Given the description of an element on the screen output the (x, y) to click on. 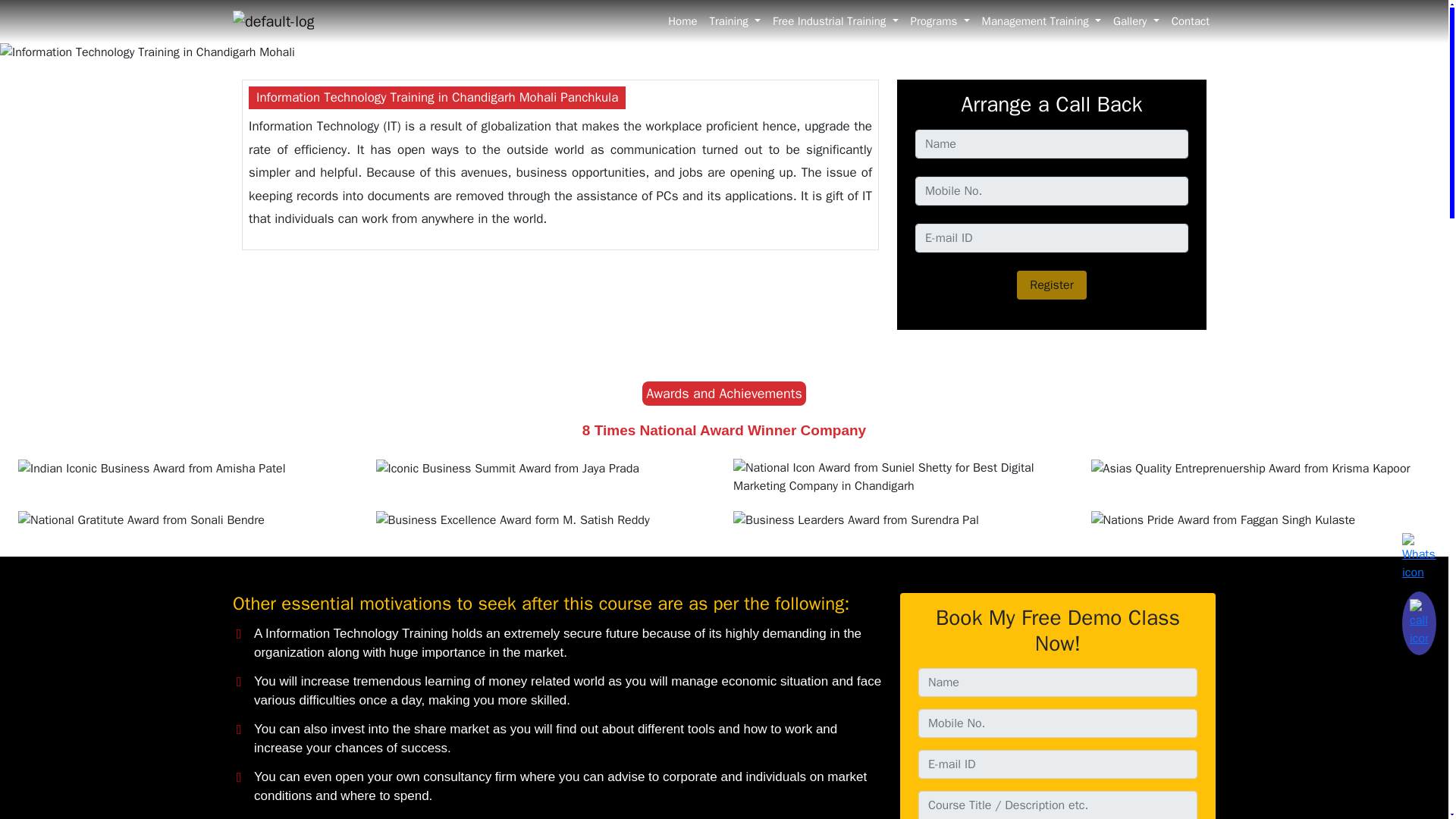
Register (1051, 285)
Home (682, 21)
Training (735, 21)
